Given the description of an element on the screen output the (x, y) to click on. 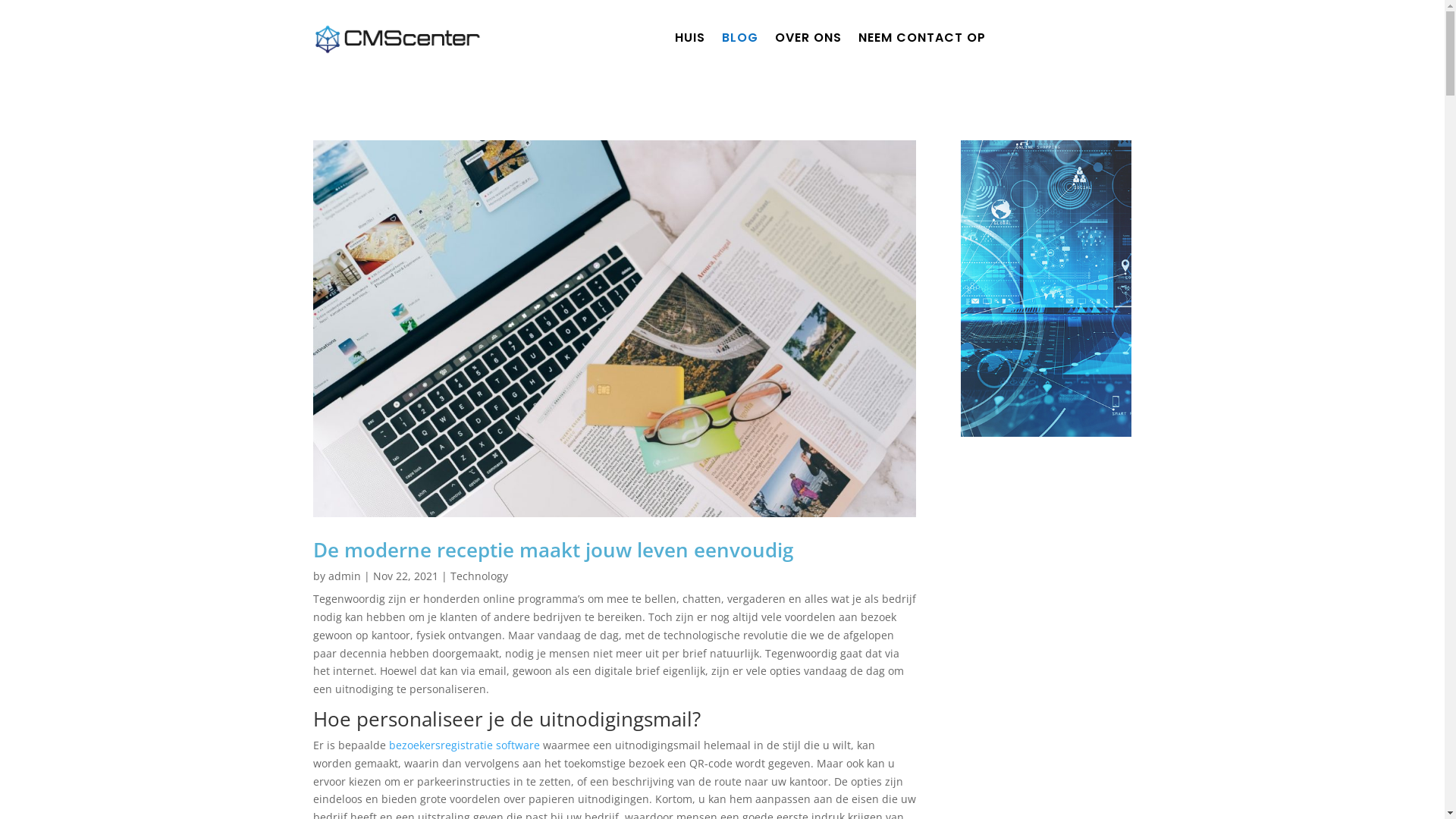
admin Element type: text (343, 575)
BLOG Element type: text (739, 40)
De moderne receptie maakt jouw leven eenvoudig Element type: text (552, 549)
NEEM CONTACT OP Element type: text (921, 40)
bezoekersregistratie software Element type: text (463, 744)
OVER ONS Element type: text (808, 40)
Technology Element type: text (479, 575)
HUIS Element type: text (689, 40)
